Given the description of an element on the screen output the (x, y) to click on. 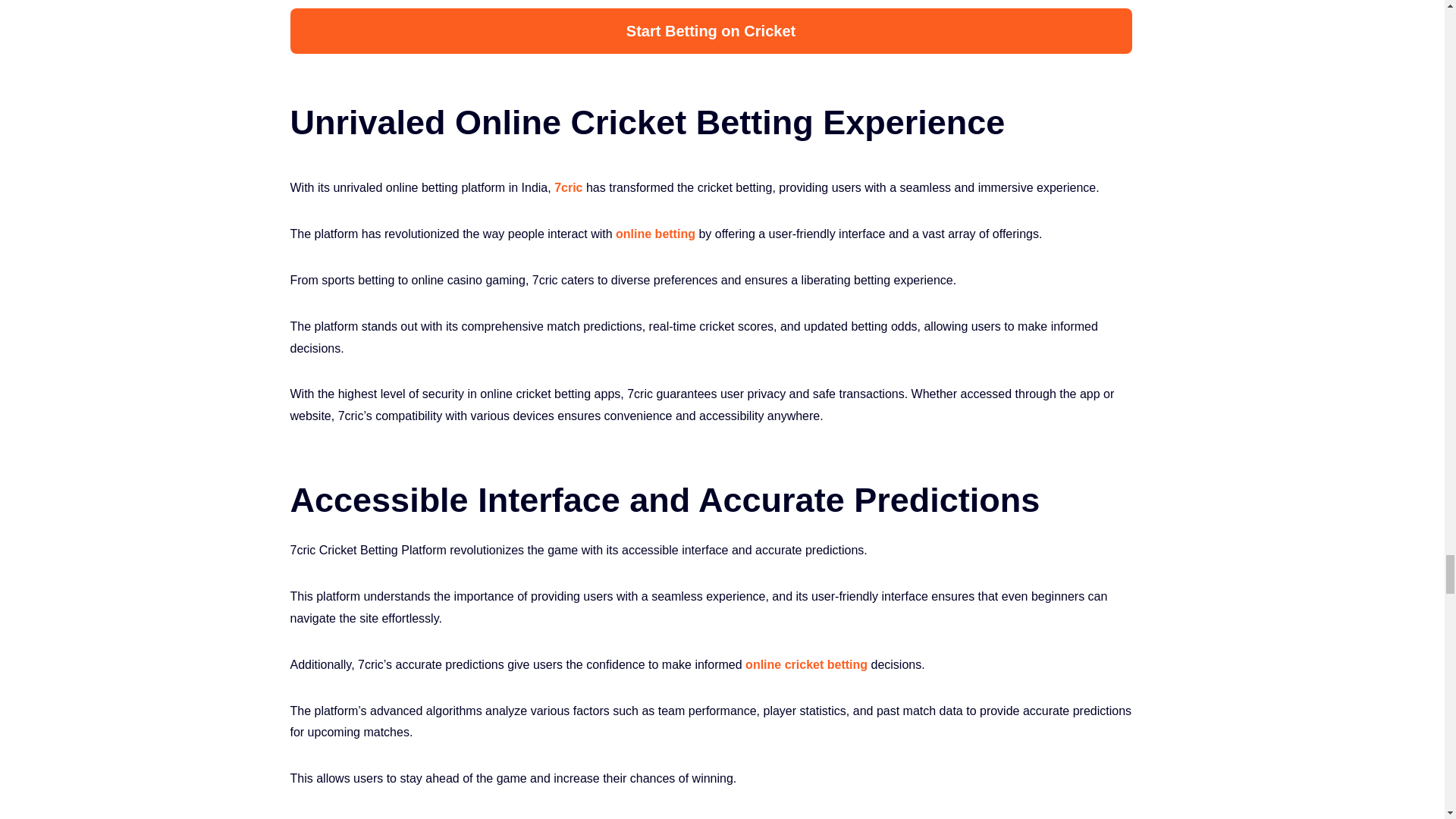
7cric (568, 187)
online cricket betting (806, 664)
online betting (655, 233)
Start Betting on Cricket (710, 31)
